Given the description of an element on the screen output the (x, y) to click on. 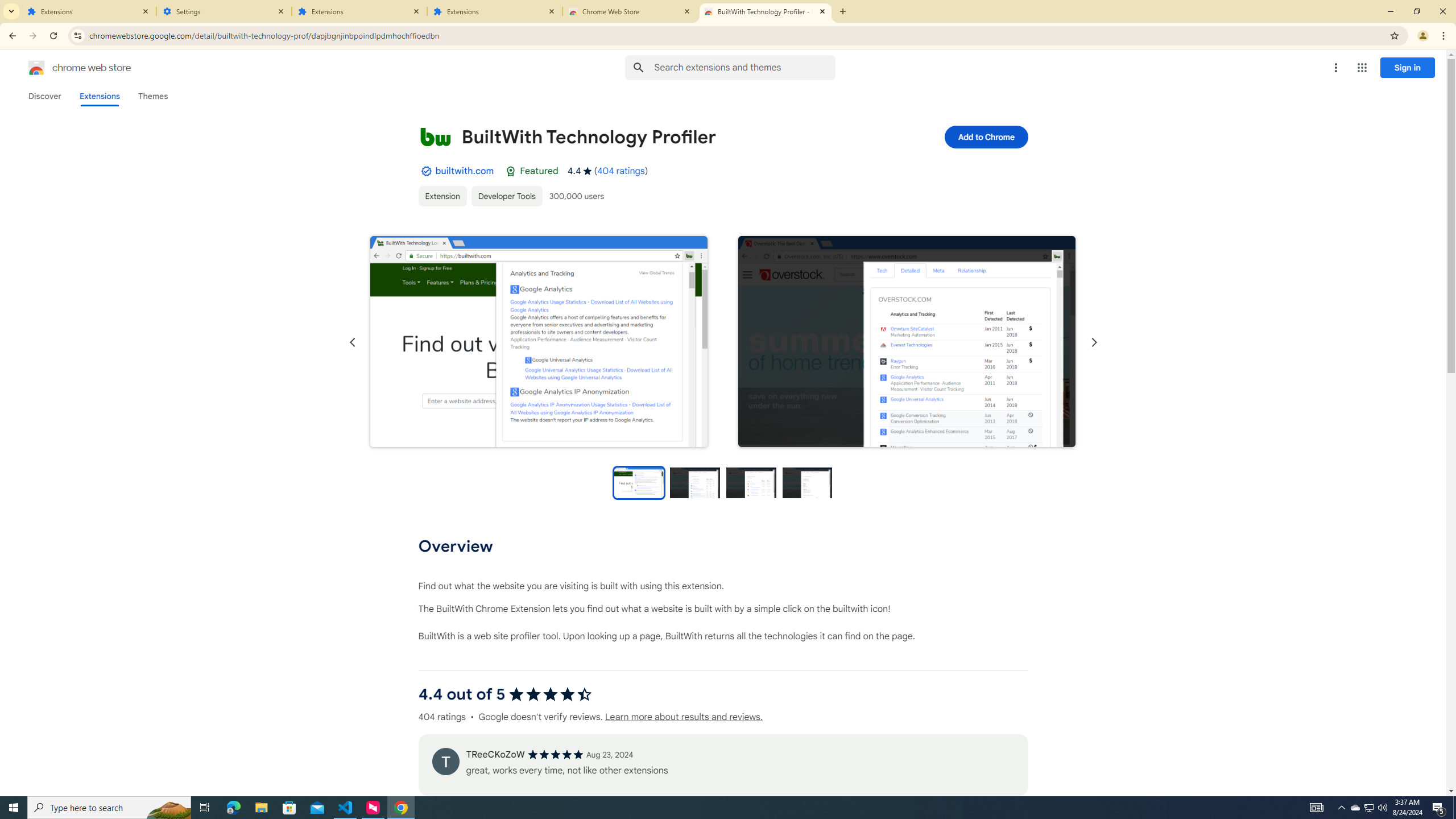
Previous slide (352, 342)
Preview slide 3 (751, 482)
Item logo image for BuiltWith Technology Profiler (434, 136)
Extensions (494, 11)
404 ratings (620, 170)
Extension (442, 195)
